Given the description of an element on the screen output the (x, y) to click on. 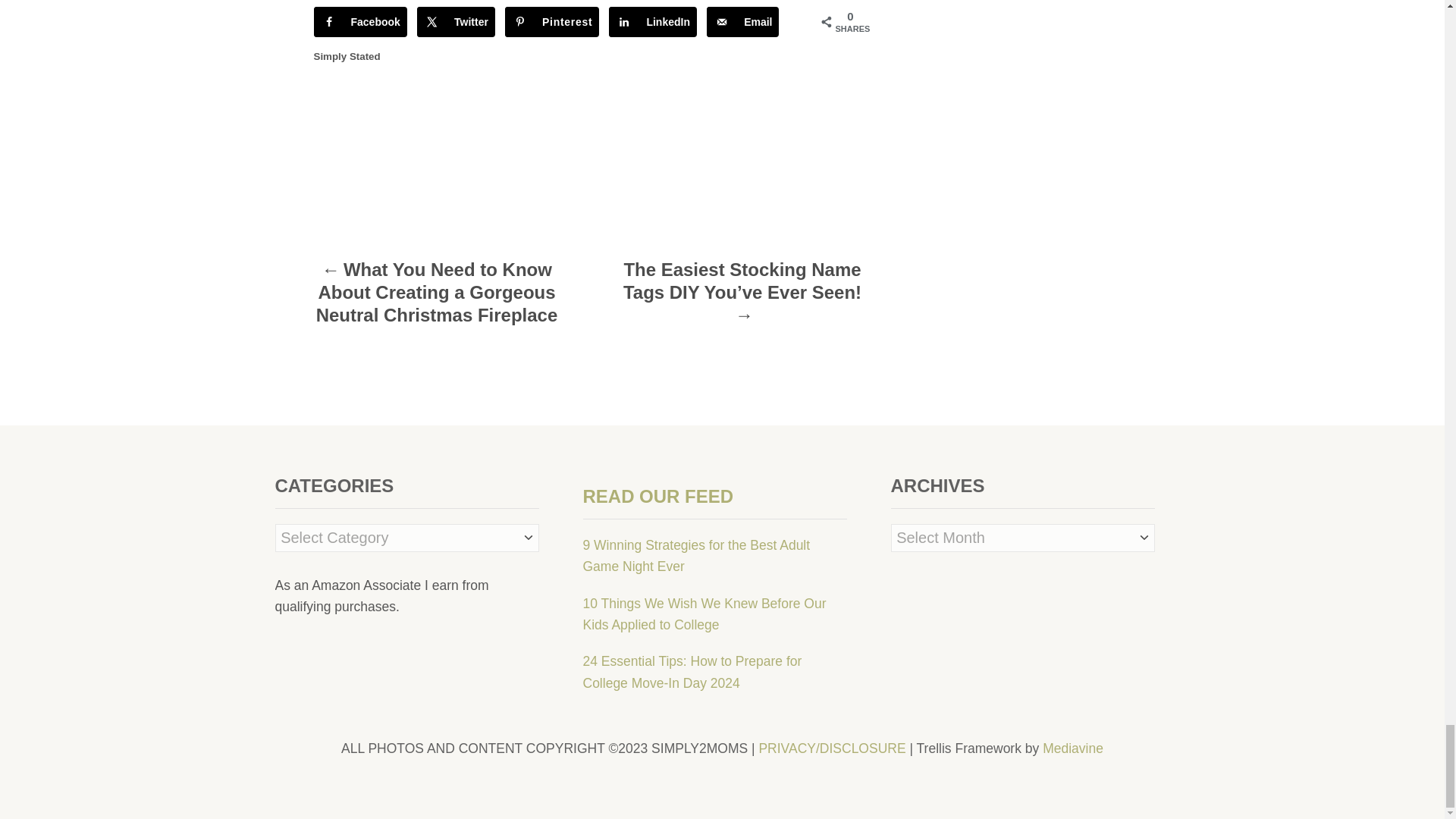
Email (742, 21)
Send over email (742, 21)
LinkedIn (652, 21)
Facebook (360, 21)
Share on X (455, 21)
Share on LinkedIn (652, 21)
Twitter (455, 21)
Pinterest (551, 21)
Share on Facebook (360, 21)
Save to Pinterest (551, 21)
